Given the description of an element on the screen output the (x, y) to click on. 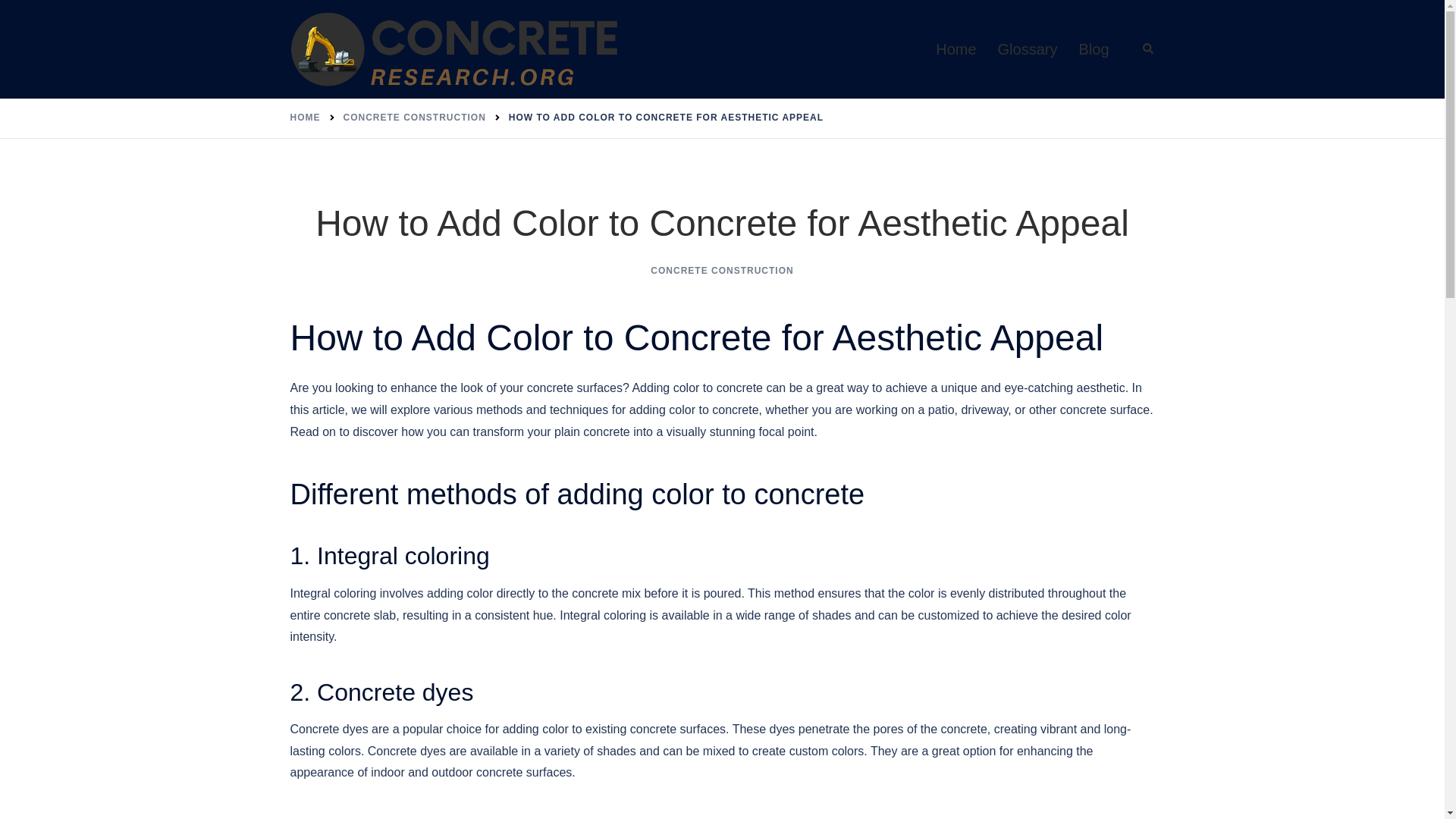
ConcreteResearch.org (454, 47)
Blog (1093, 49)
CONCRETE CONSTRUCTION (721, 270)
CONCRETE CONSTRUCTION (413, 117)
Search (1147, 49)
HOME (304, 117)
Glossary (1027, 49)
Home (955, 49)
